Given the description of an element on the screen output the (x, y) to click on. 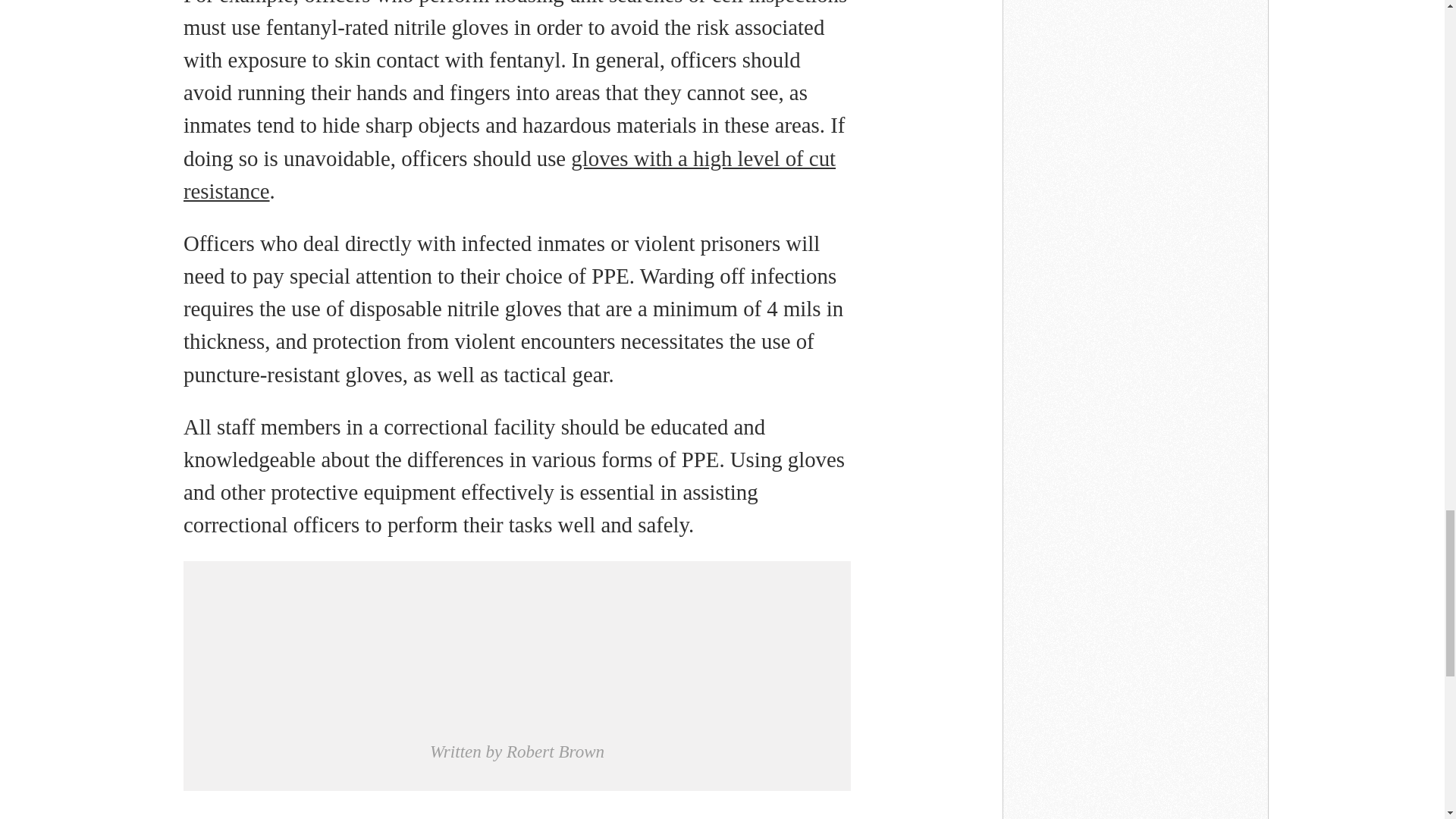
gloves with a high level of cut resistance (509, 174)
